Given the description of an element on the screen output the (x, y) to click on. 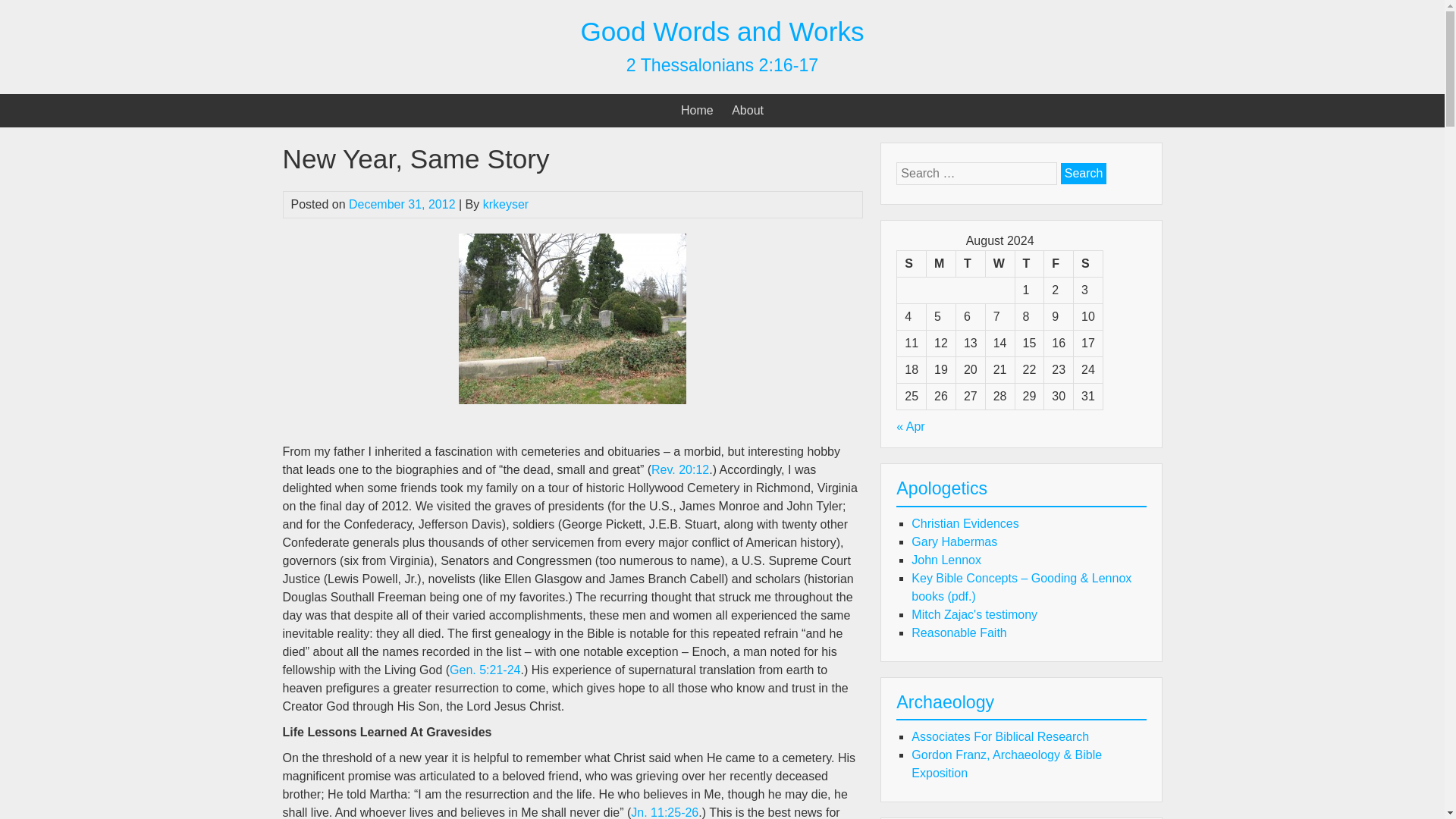
Monday (941, 263)
Gen. 5:21-24 (484, 669)
Christian Evidences (964, 522)
Thursday (1028, 263)
John Lennox (946, 559)
Search (1083, 173)
Search (1083, 173)
Friday (1058, 263)
Rev. 20:12 (679, 469)
Good Words and Works (721, 30)
